Given the description of an element on the screen output the (x, y) to click on. 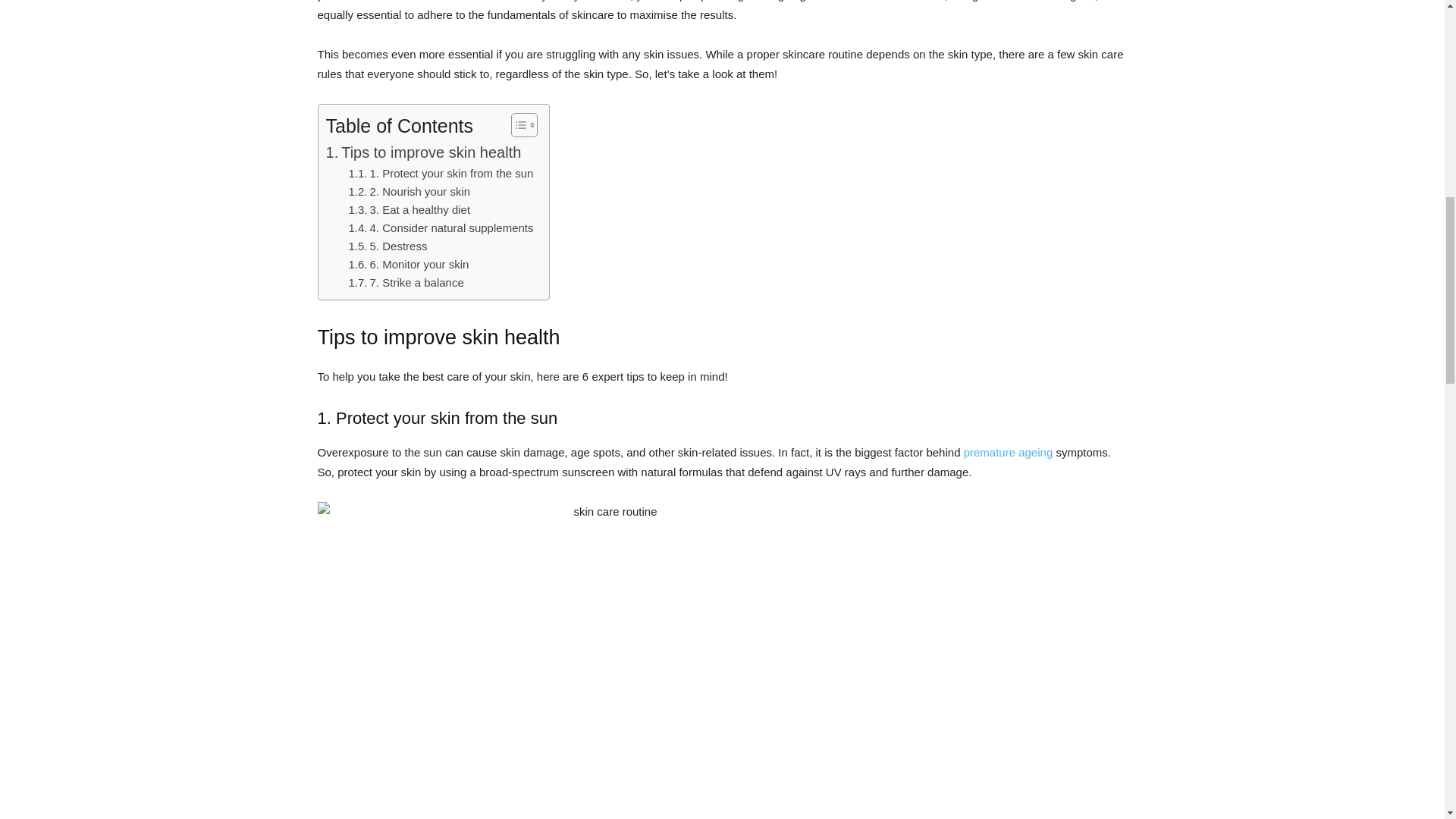
premature ageing (1007, 451)
4. Consider natural supplements (441, 228)
3. Eat a healthy diet (409, 209)
5. Destress (388, 246)
7. Strike a balance (406, 282)
1. Protect your skin from the sun (441, 173)
6. Monitor your skin (408, 264)
Tips to improve skin health (423, 152)
7. Strike a balance (406, 282)
